Given the description of an element on the screen output the (x, y) to click on. 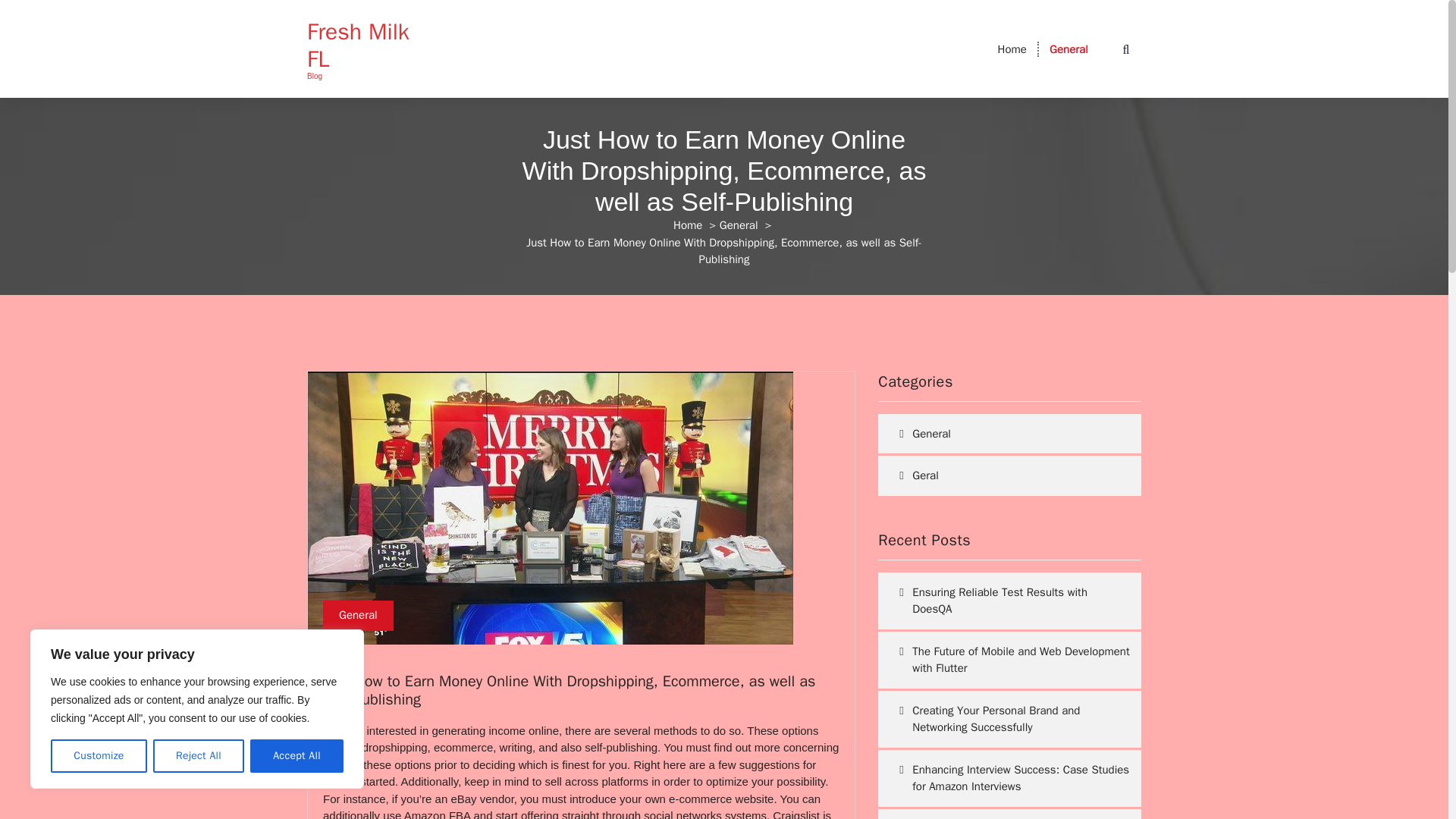
Home (1012, 49)
Home (686, 224)
General (358, 615)
Home (1012, 49)
Fresh Milk FL (366, 45)
General (738, 224)
Accept All (296, 756)
Reject All (198, 756)
General (1068, 49)
Customize (98, 756)
